Given the description of an element on the screen output the (x, y) to click on. 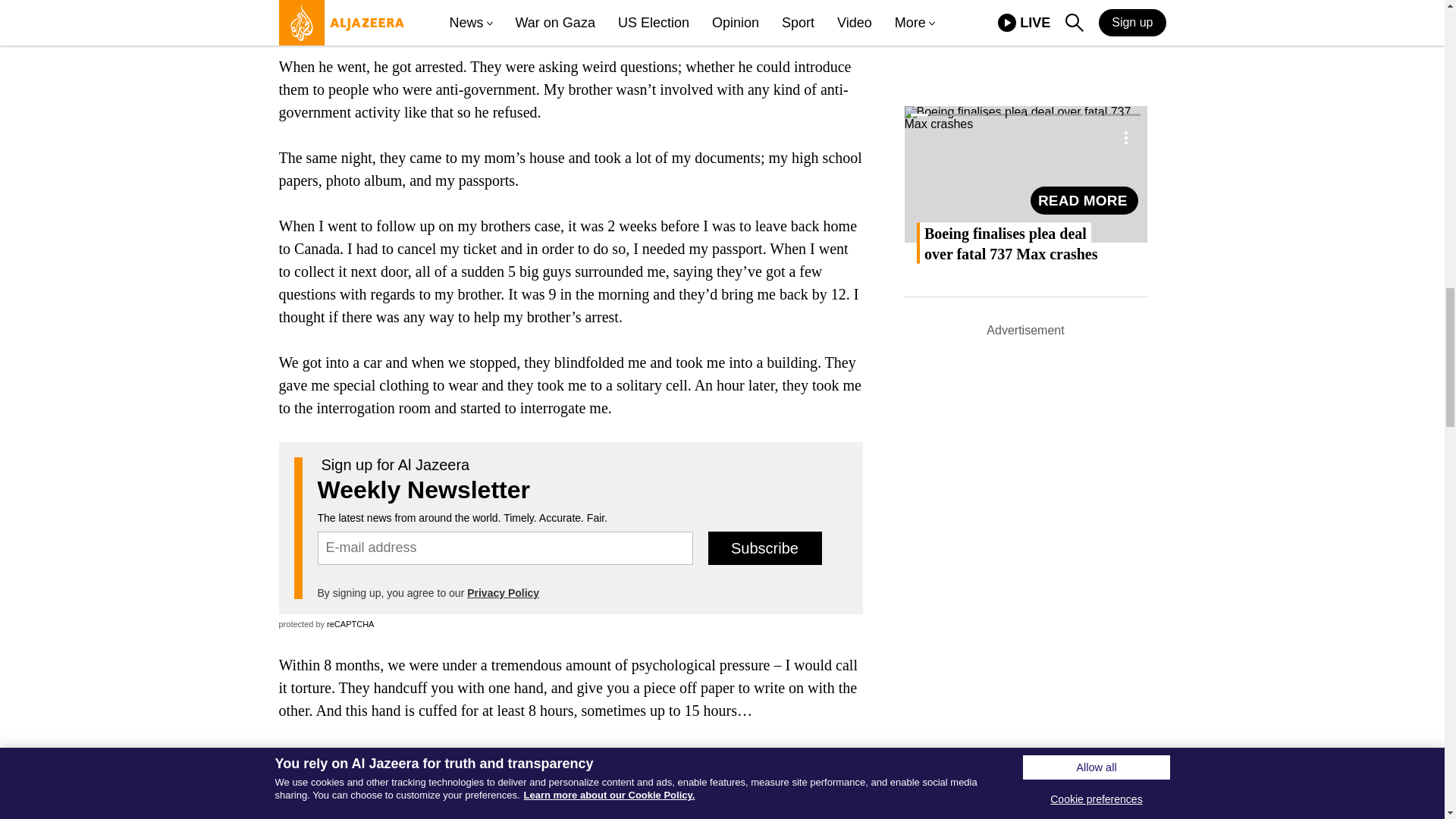
Subscribe (764, 548)
3rd party ad content (570, 13)
